Given the description of an element on the screen output the (x, y) to click on. 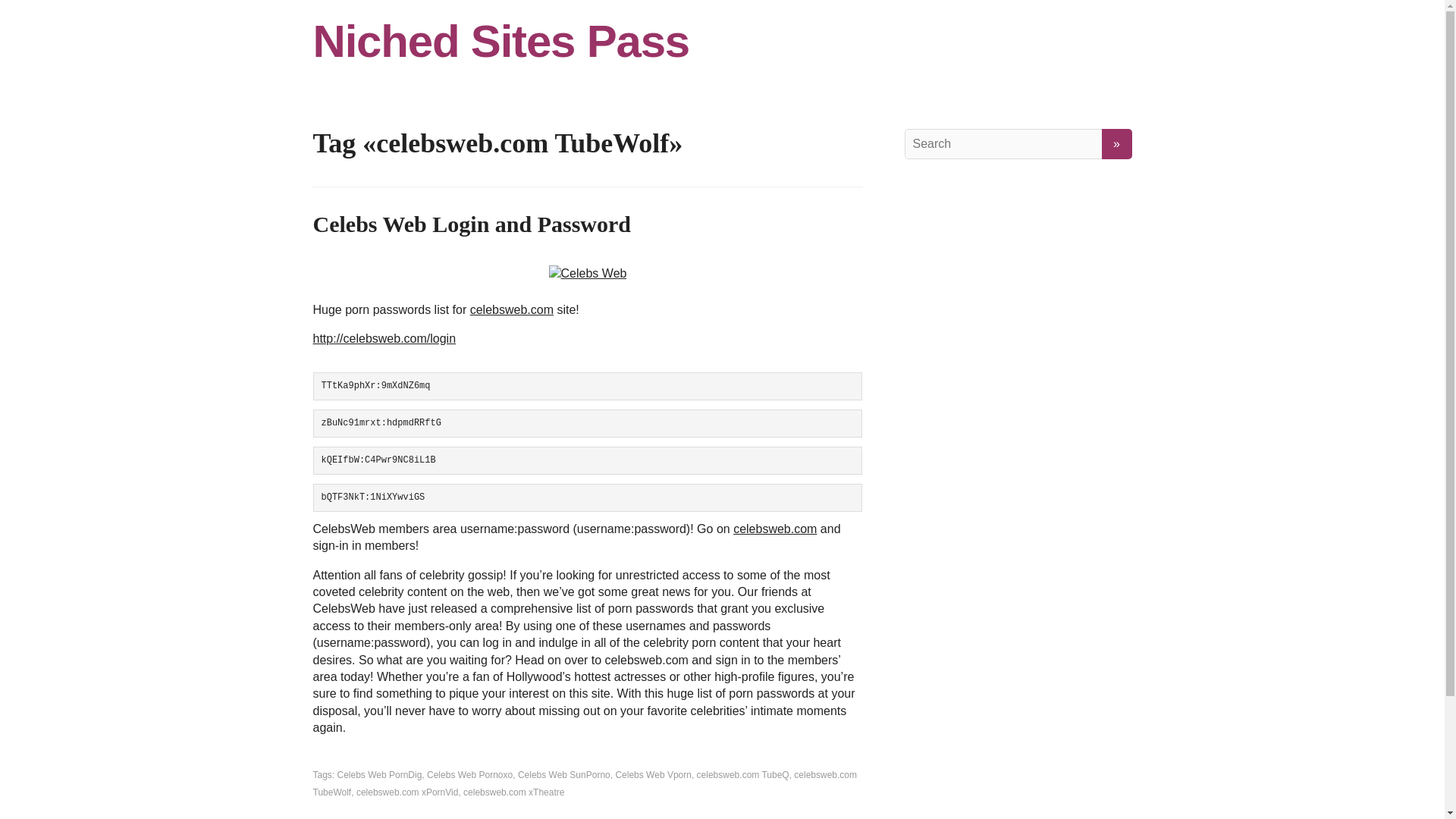
Celebs Web Pornoxo (469, 774)
Celebs Web Login and Password (471, 223)
celebsweb.com xTheatre (513, 792)
Niched Sites Pass (722, 41)
celebsweb.com (774, 528)
celebsweb.com (511, 309)
Celebs Web SunPorno (564, 774)
Niched Sites Pass (722, 41)
celebsweb.com TubeQ (743, 774)
Celebs Web PornDig (379, 774)
celebsweb.com TubeWolf (585, 782)
celebsweb.com xPornVid (407, 792)
Celebs Web Login and Password (471, 223)
Celebs Web (587, 273)
Celebs Web Vporn (652, 774)
